Given the description of an element on the screen output the (x, y) to click on. 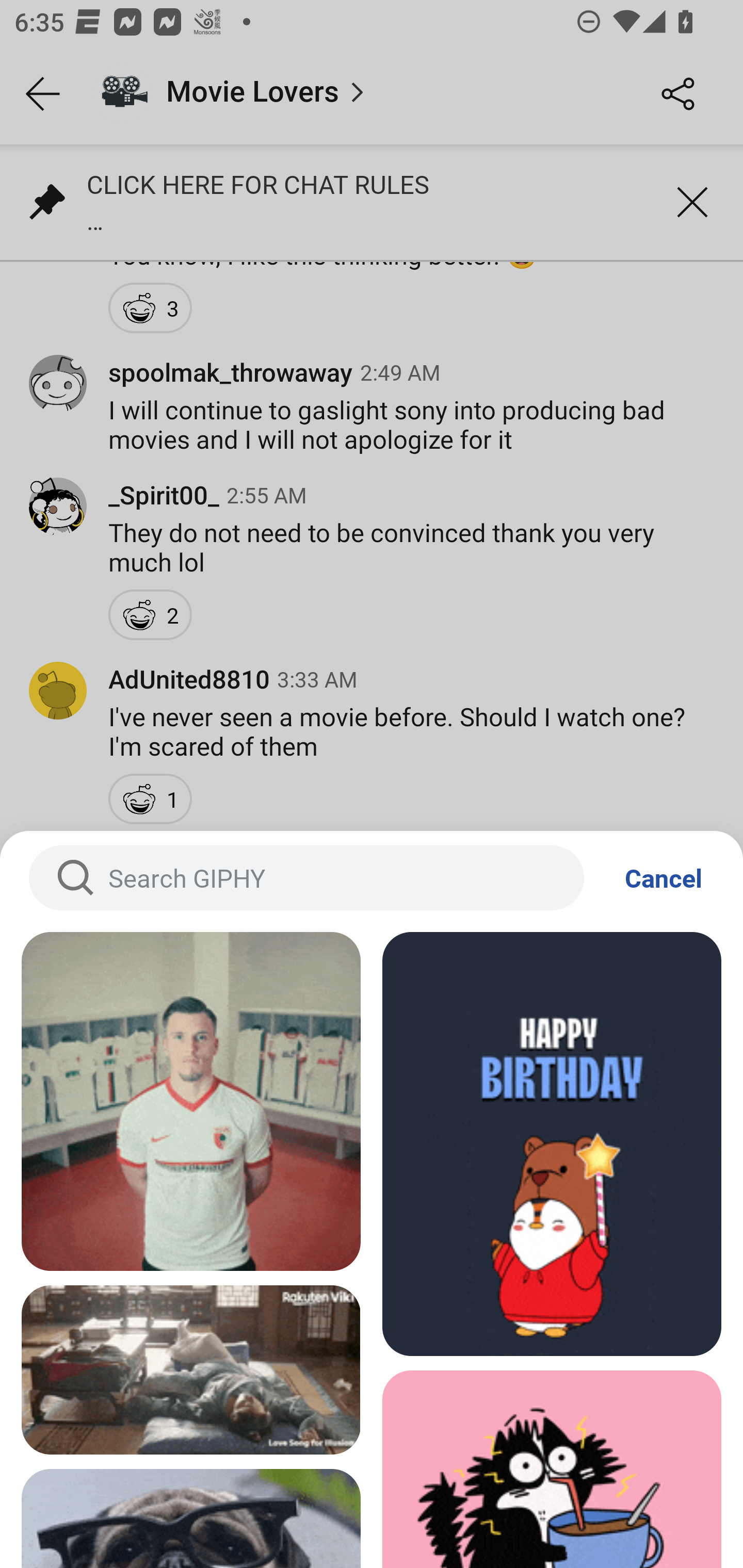
Search GIPHY (305, 878)
Cancel (663, 878)
Gif (190, 1101)
Gif (551, 1143)
Gif (190, 1370)
Gif (551, 1469)
